Given the description of an element on the screen output the (x, y) to click on. 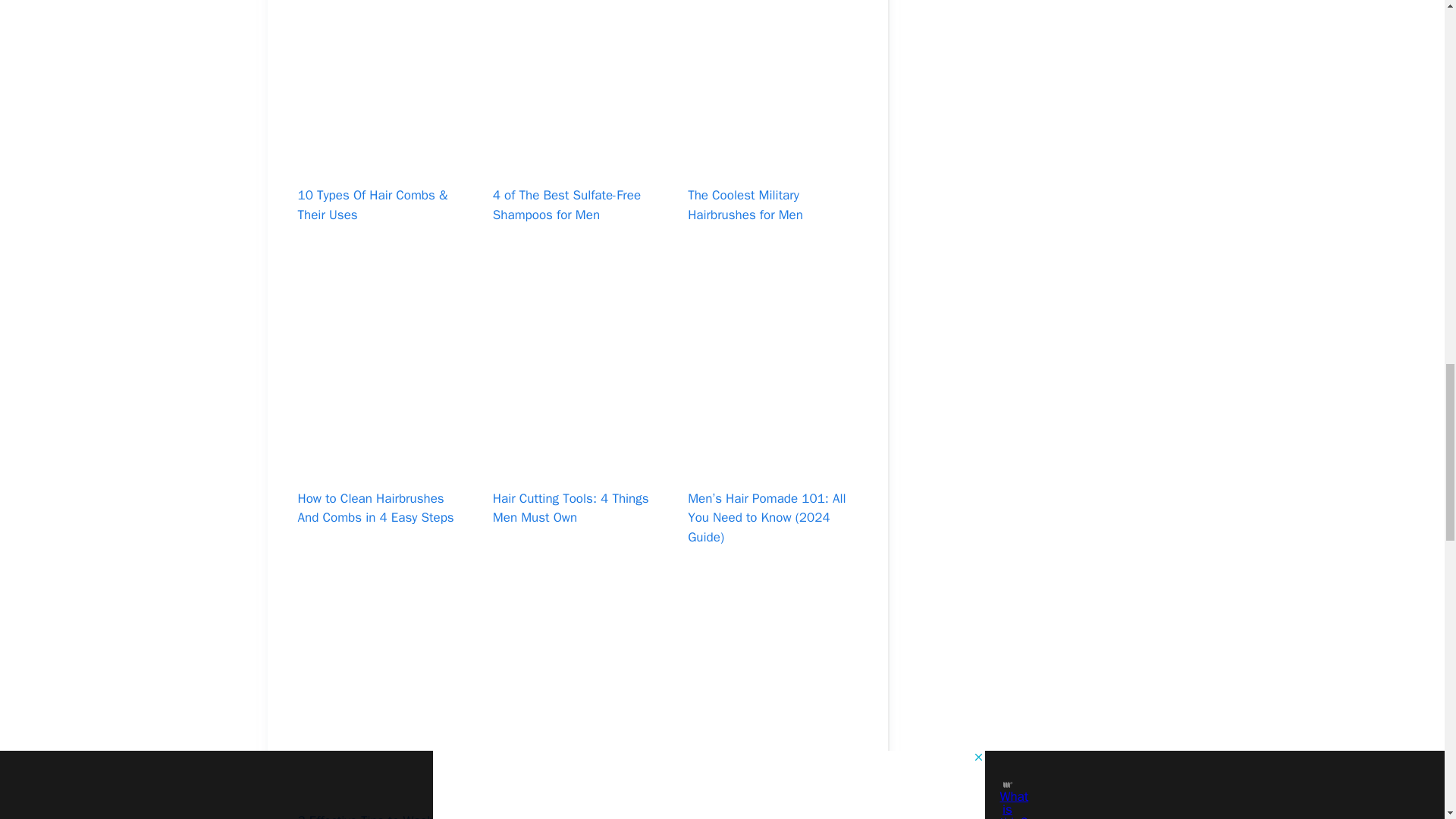
4 of The Best Sulfate-Free Shampoos for Men (566, 204)
Hair Cutting Tools: 4 Things Men Must Own (577, 465)
The Coolest Military Hairbrushes for Men (745, 204)
7 Best Tips to Choose Safety Razors Like A Pro (575, 816)
7 Best Tips to Choose Safety Razors Like A Pro (577, 788)
Hair Cutting Tools: 4 Things Men Must Own (571, 508)
The Best Headbands For Men With Long Hair (772, 788)
The Best Headbands For Men With Long Hair (770, 816)
How to Clean Hairbrushes And Combs in 4 Easy Steps (381, 465)
3 Effective Tips to Wash Hair After Dying It (381, 788)
How to Clean Hairbrushes And Combs in 4 Easy Steps (374, 508)
4 of The Best Sulfate-Free Shampoos for Men (577, 162)
The Coolest Military Hairbrushes for Men (772, 162)
3 Effective Tips to Wash Hair After Dying It (378, 816)
